Given the description of an element on the screen output the (x, y) to click on. 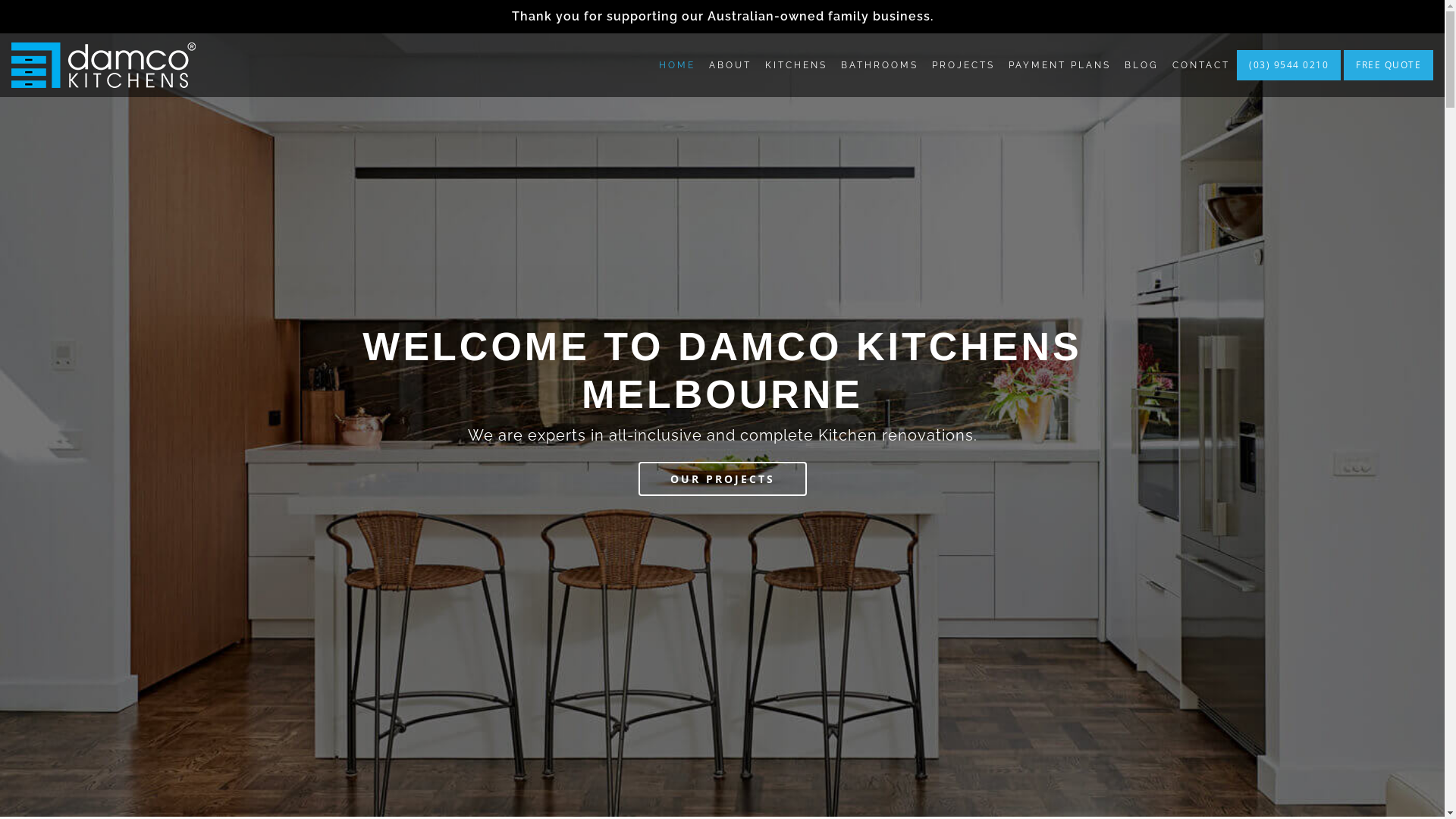
OUR PROJECTS Element type: text (722, 478)
BLOG Element type: text (1141, 65)
ABOUT Element type: text (730, 65)
Damco Kitchens Element type: hover (103, 64)
KITCHENS Element type: text (796, 65)
HOME
(CURRENT) Element type: text (676, 65)
FREE QUOTE Element type: text (1388, 65)
CONTACT Element type: text (1201, 65)
(03) 9544 0210 Element type: text (1288, 65)
PAYMENT PLANS Element type: text (1059, 65)
PROJECTS Element type: text (962, 65)
BATHROOMS Element type: text (879, 65)
